Given the description of an element on the screen output the (x, y) to click on. 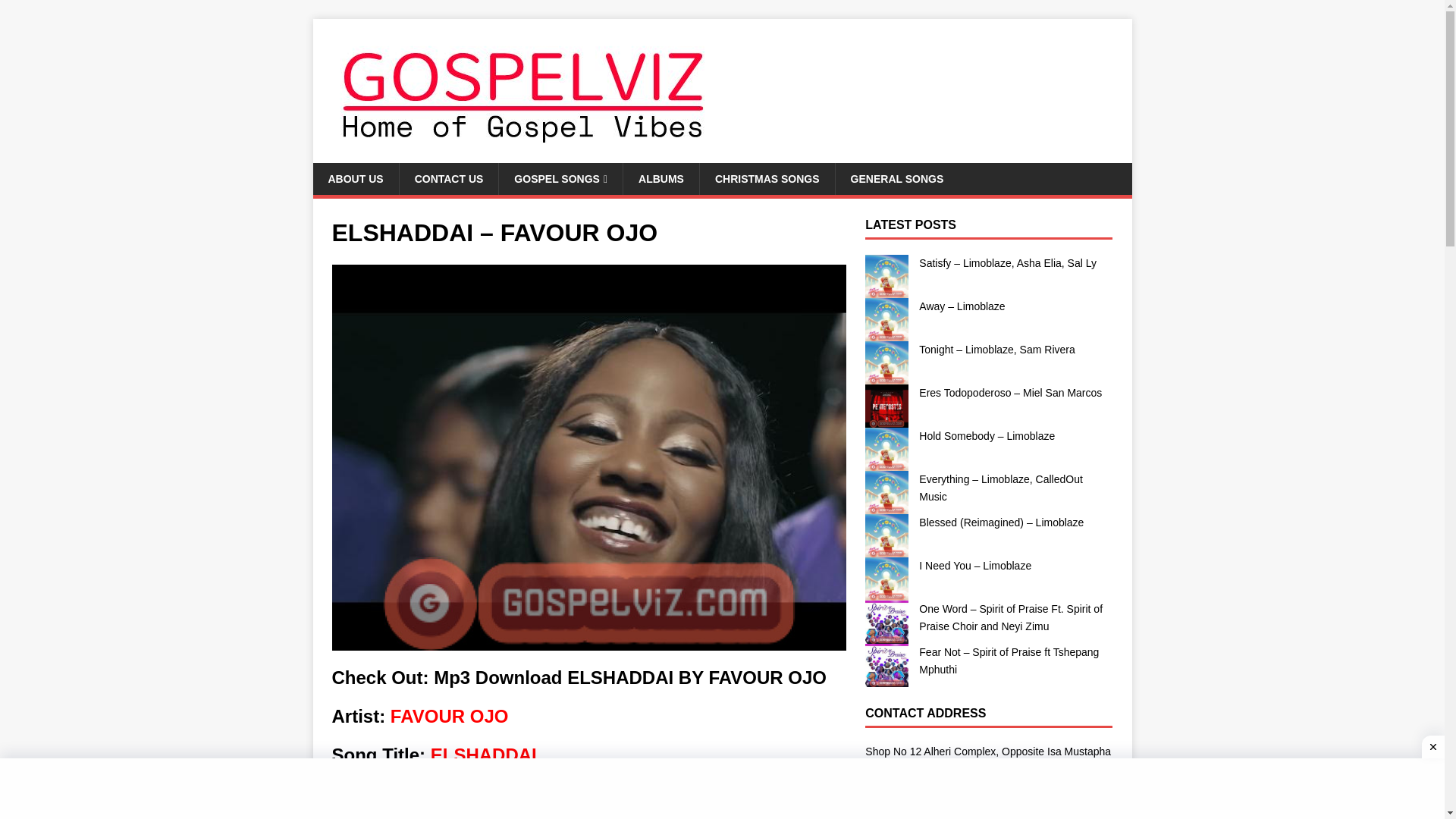
CHRISTMAS SONGS (766, 178)
CONTACT US (448, 178)
GENERAL SONGS (896, 178)
ABOUT US (355, 178)
GOSPEL SONGS (560, 178)
ALBUMS (660, 178)
